Given the description of an element on the screen output the (x, y) to click on. 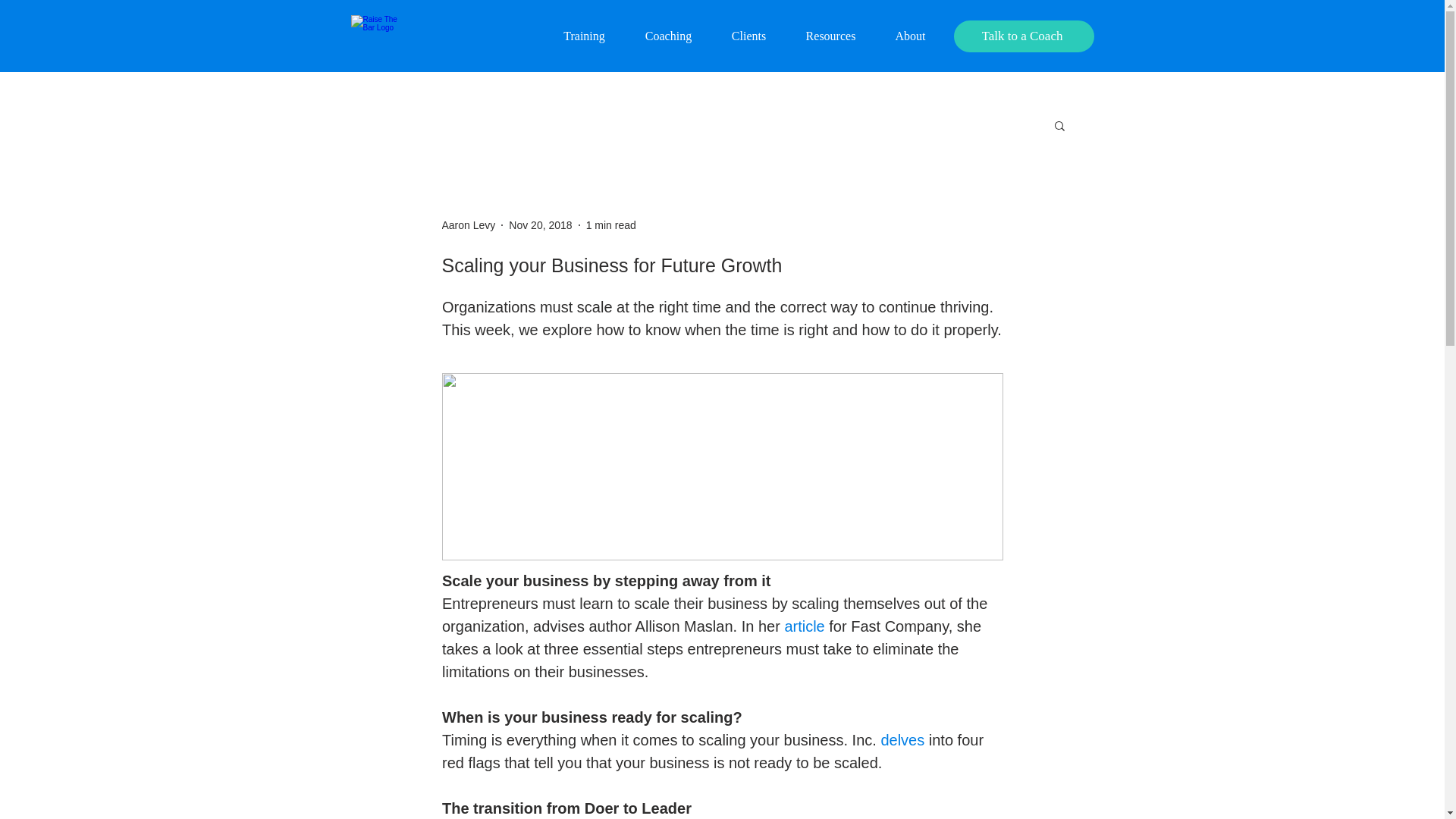
1 min read (611, 224)
Talk to a Coach (1023, 36)
delves (902, 740)
Aaron Levy (468, 224)
Nov 20, 2018 (540, 224)
article (804, 626)
Aaron Levy (468, 224)
